Given the description of an element on the screen output the (x, y) to click on. 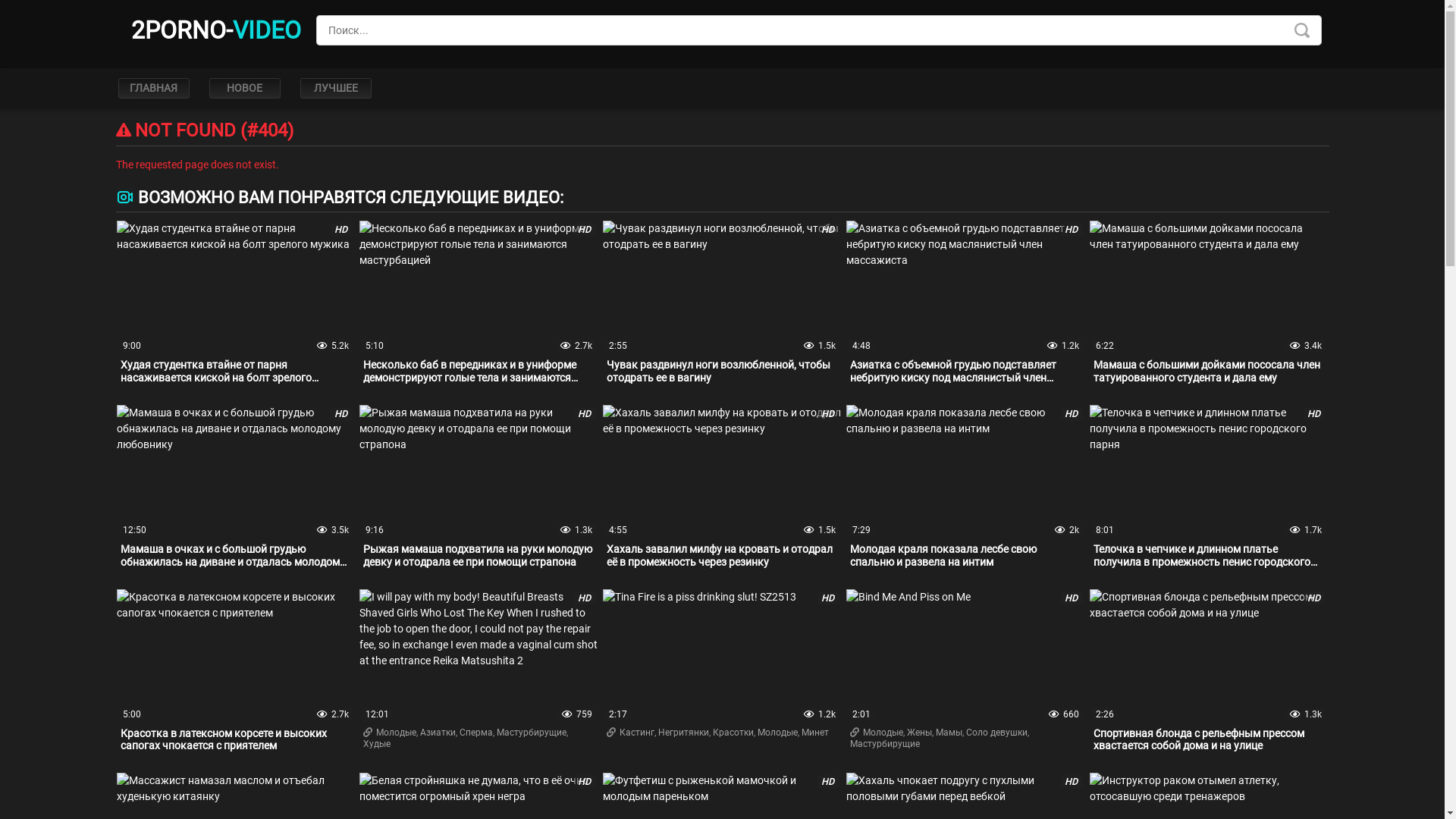
HD
2:01
660 Element type: text (965, 656)
HD
2:17
1.2k Element type: text (721, 656)
HD
12:01
759 Element type: text (478, 656)
2PORNO-VIDEO Element type: text (215, 30)
